Given the description of an element on the screen output the (x, y) to click on. 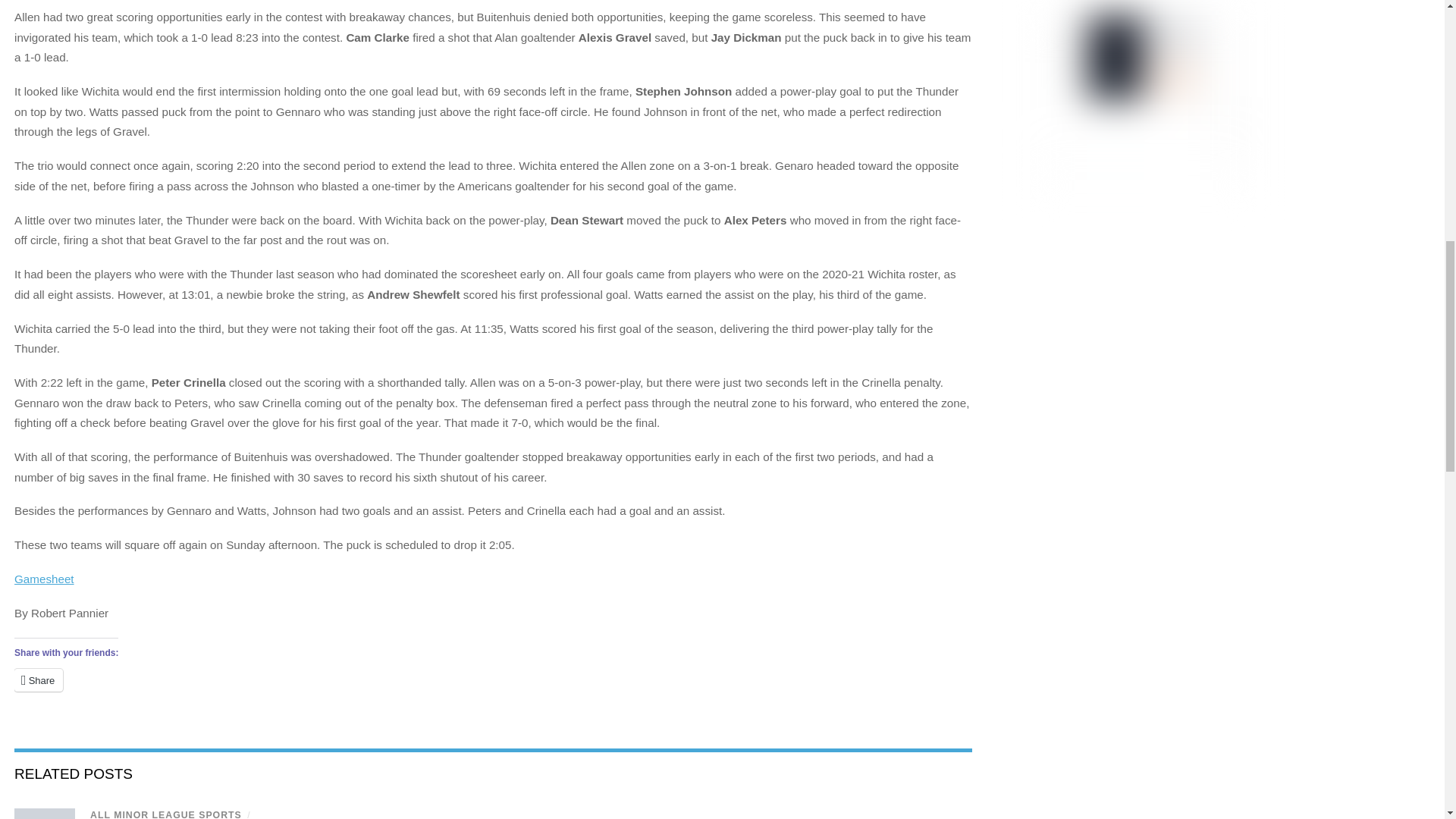
Share (38, 680)
TWITA Lead 2021 (44, 813)
ALL MINOR LEAGUE SPORTS (165, 814)
Gamesheet (44, 578)
